Given the description of an element on the screen output the (x, y) to click on. 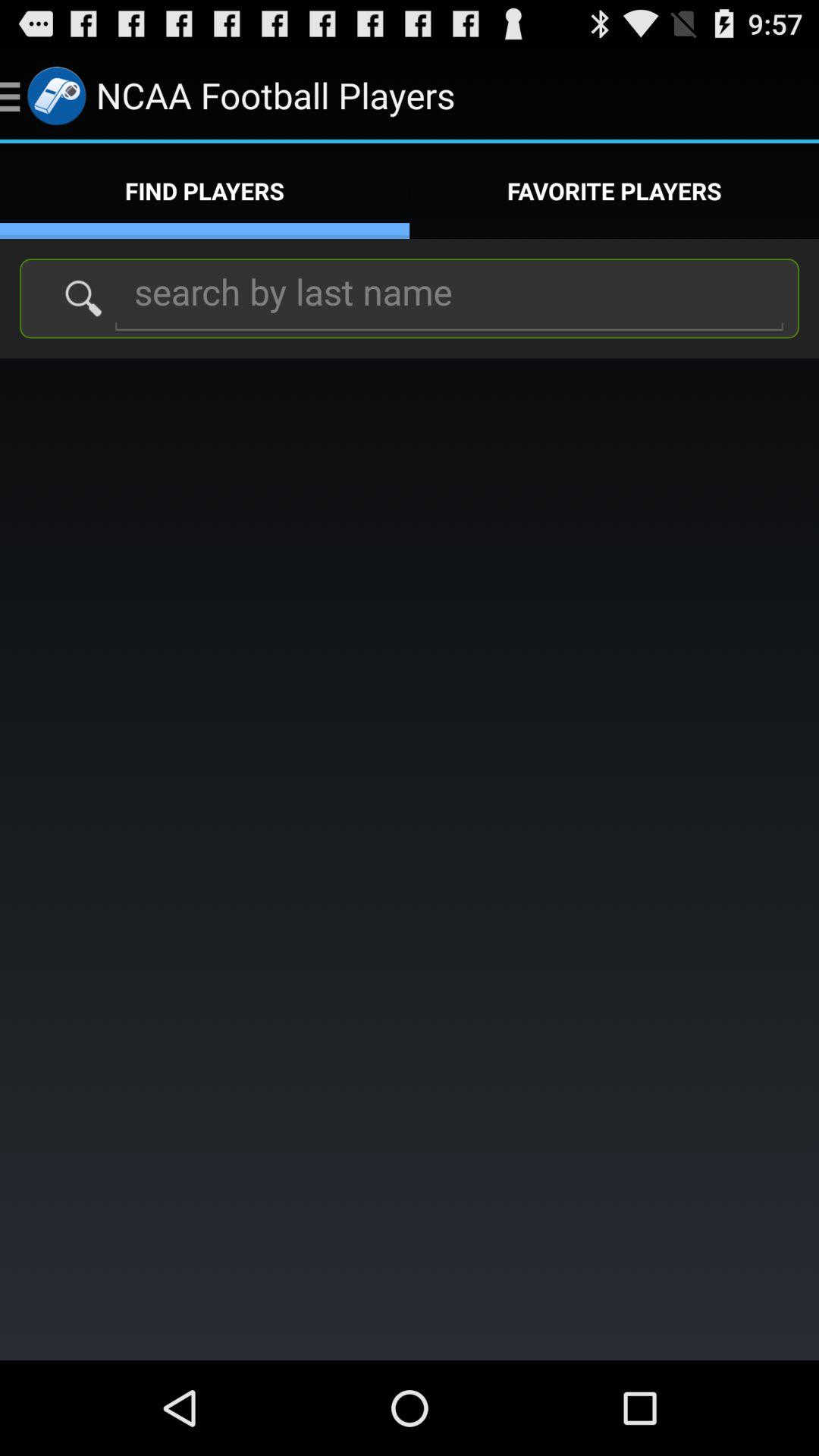
select icon below the ncaa football players app (614, 190)
